Given the description of an element on the screen output the (x, y) to click on. 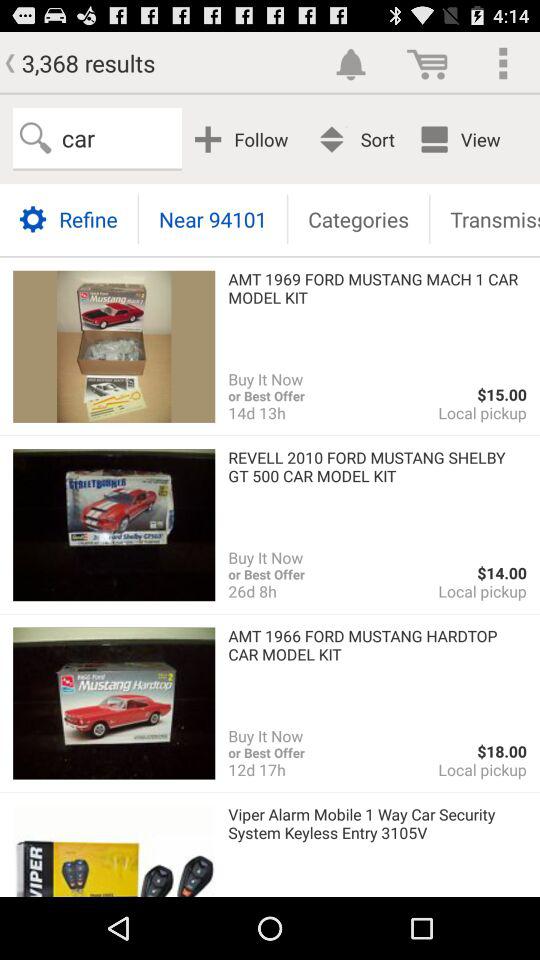
click near 94101 icon (212, 218)
